Given the description of an element on the screen output the (x, y) to click on. 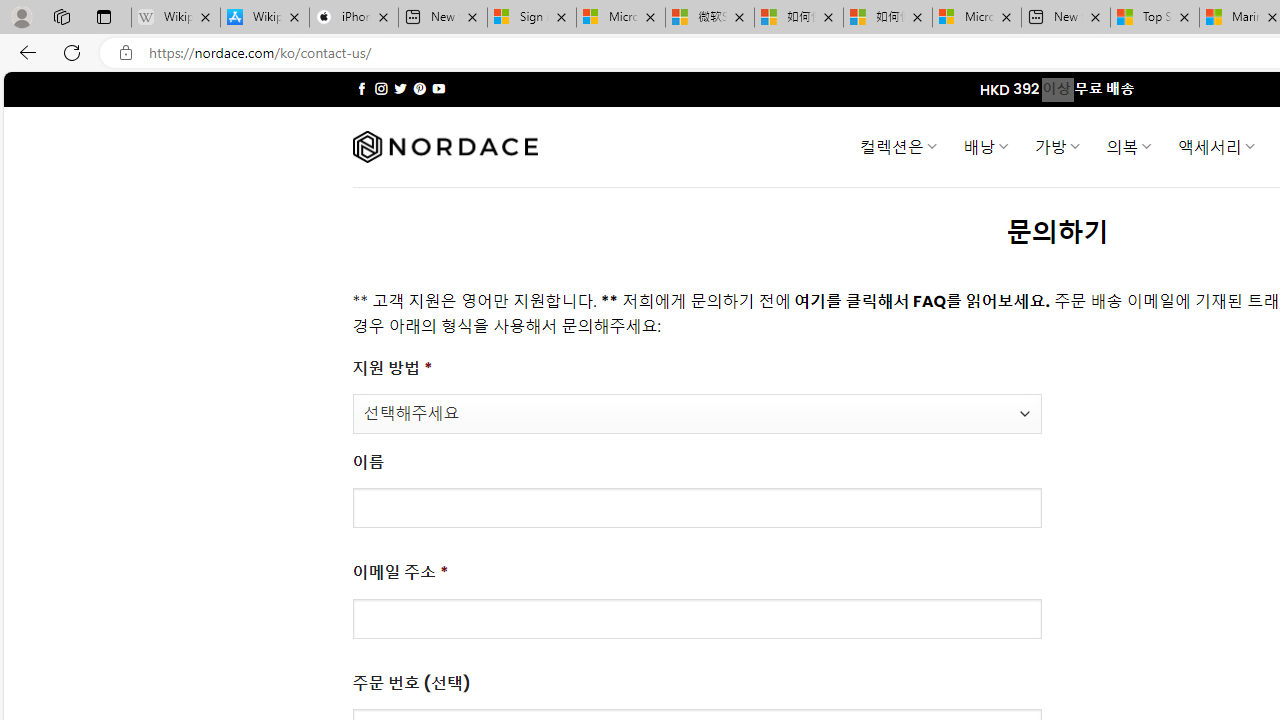
Wikipedia - Sleeping (175, 17)
Microsoft Services Agreement (621, 17)
